Given the description of an element on the screen output the (x, y) to click on. 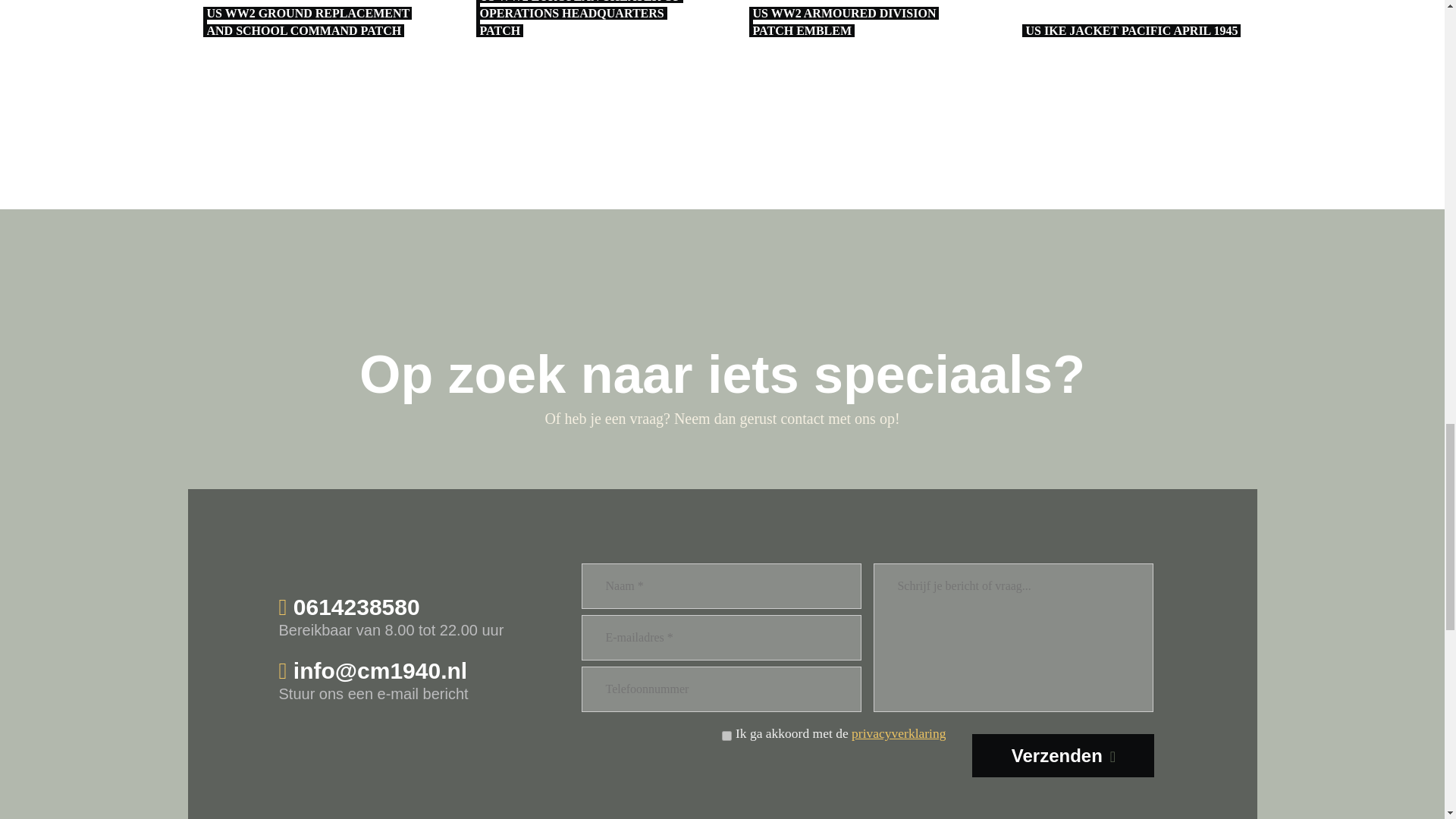
US IKE JACKET PACIFIC APRIL 1945  (419, 616)
US WW2 GROUND REPLACEMENT AND SCHOOL COMMAND PATCH  (1132, 27)
privacyverklaring (312, 27)
US WW2 ARMOURED DIVISION PATCH EMBLEM  (897, 733)
US WW2 EUROPEAN THEATER OF OPERATIONS HEADQUARTERS PATCH  (858, 27)
Verzenden (586, 27)
